Given the description of an element on the screen output the (x, y) to click on. 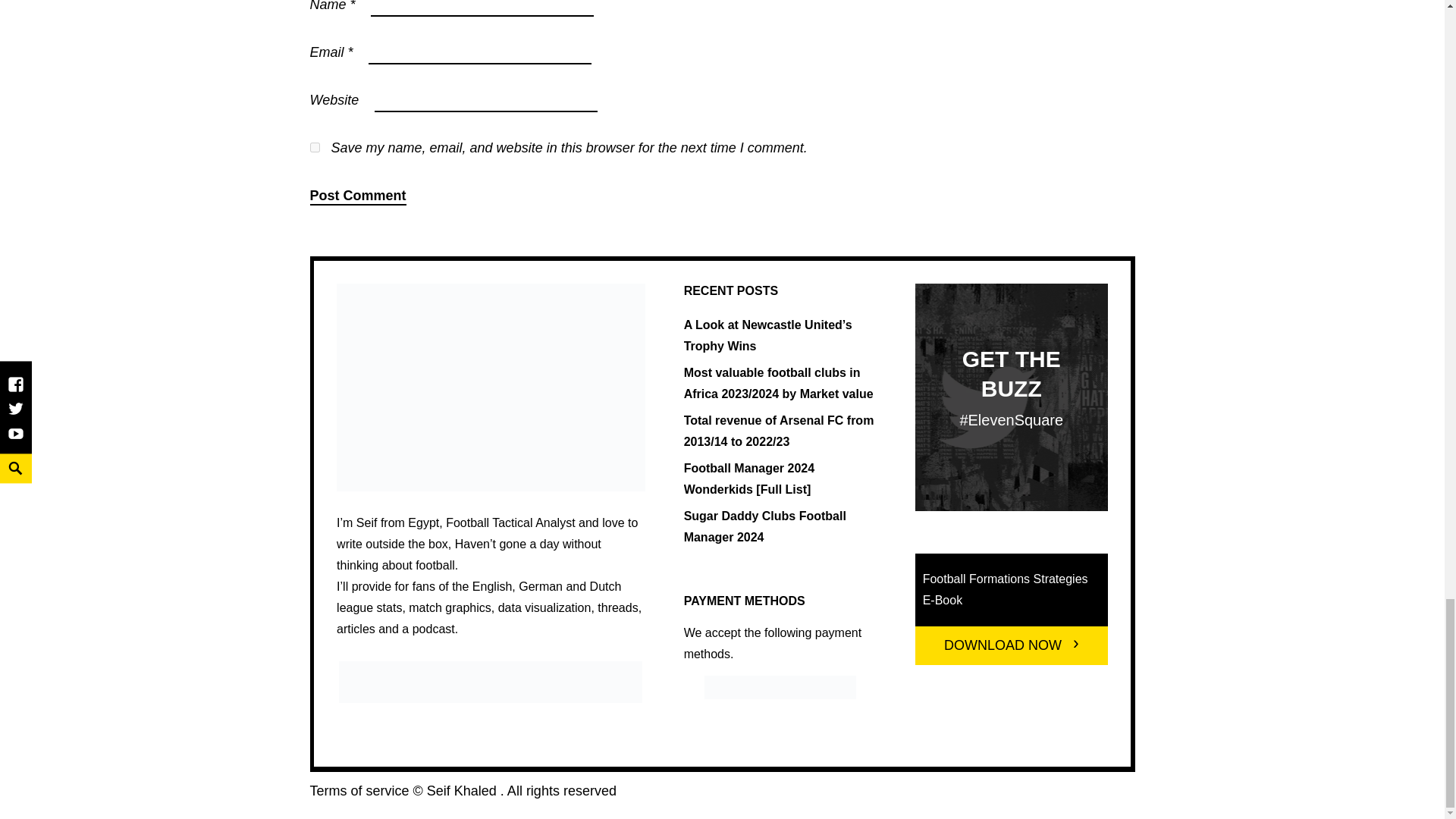
Post Comment (357, 195)
yes (313, 147)
Post Comment (357, 195)
